Given the description of an element on the screen output the (x, y) to click on. 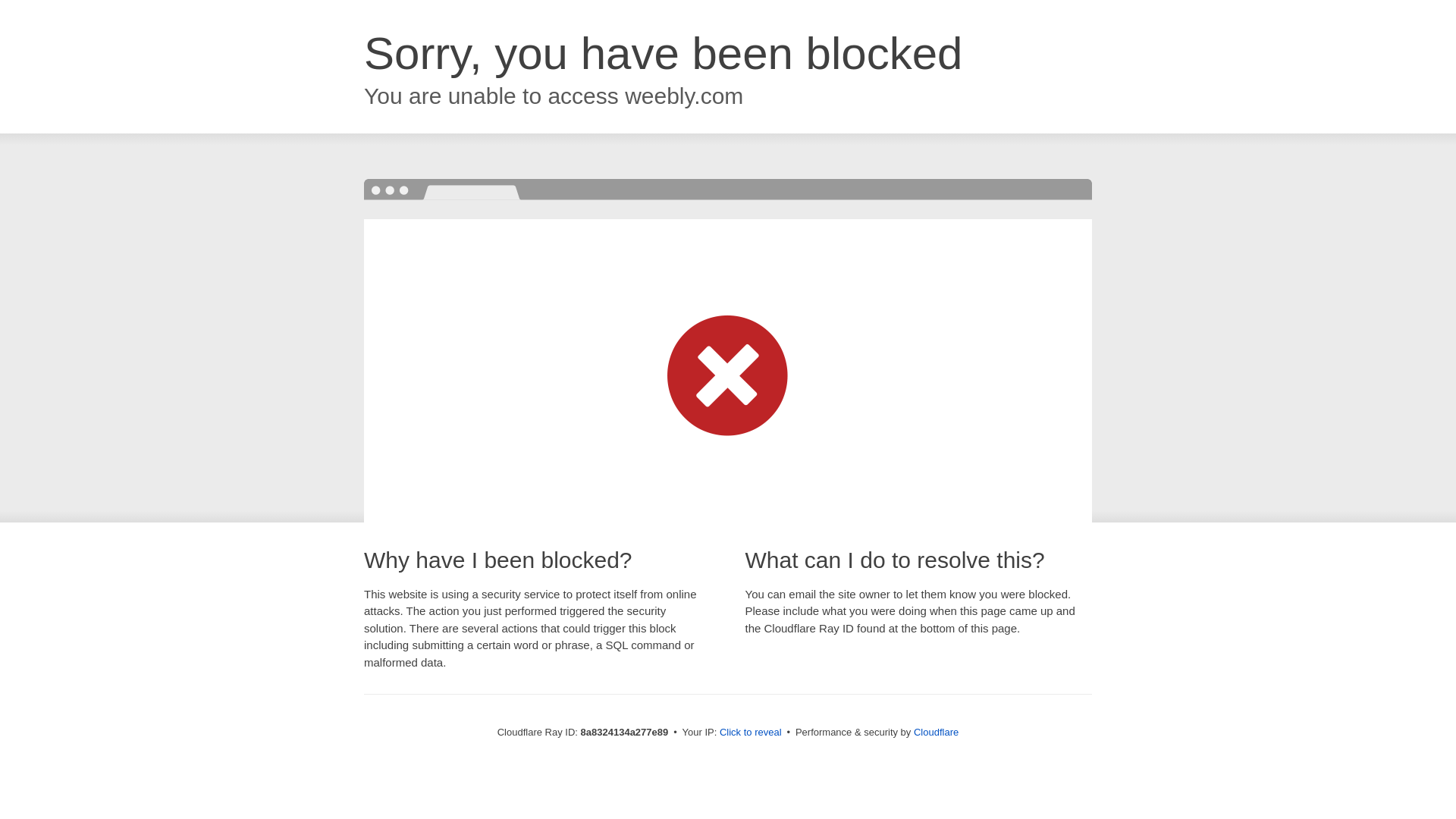
Click to reveal (750, 732)
Cloudflare (936, 731)
